Given the description of an element on the screen output the (x, y) to click on. 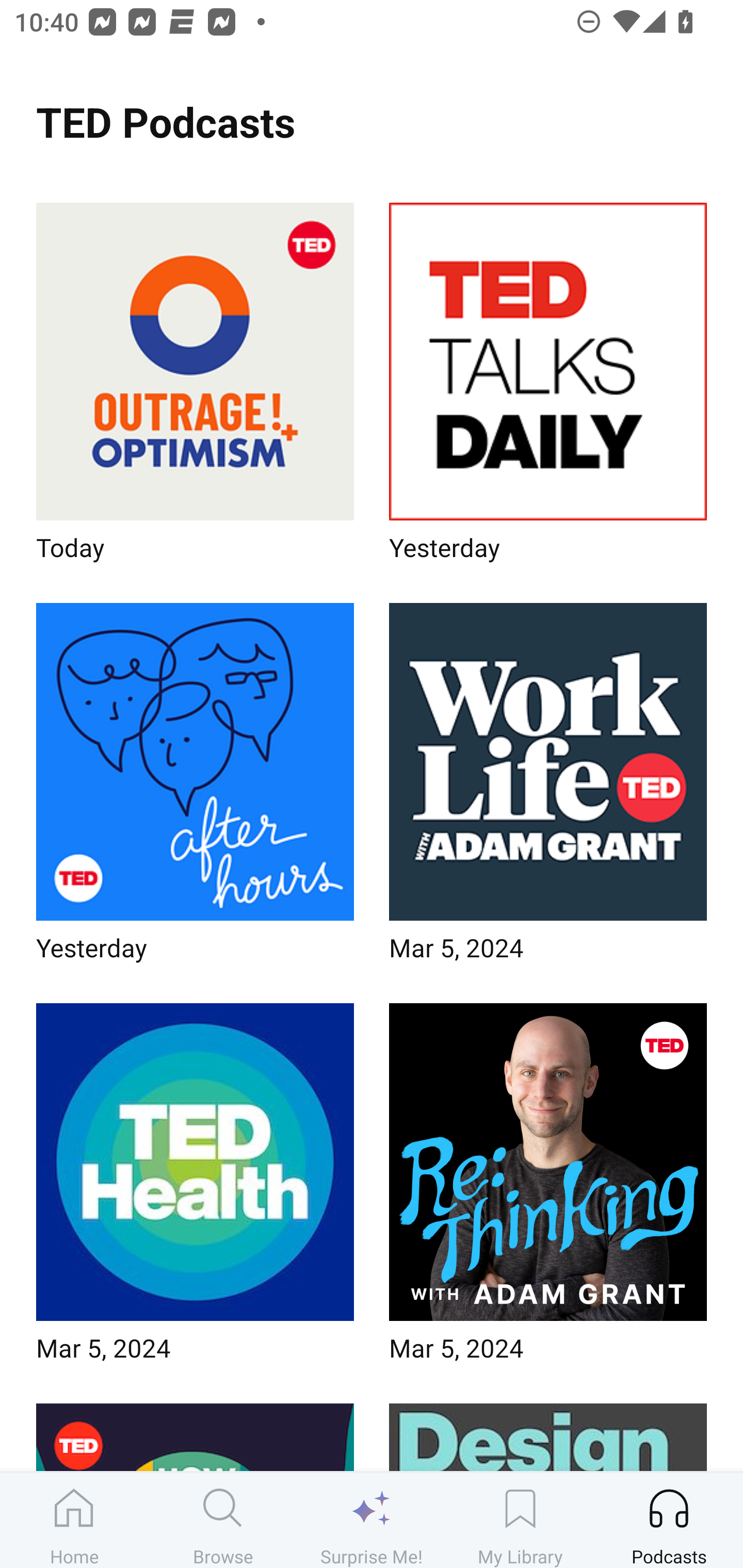
Today (194, 387)
Yesterday (547, 387)
Yesterday (194, 788)
Mar 5, 2024 (547, 788)
Mar 5, 2024 (194, 1189)
Mar 5, 2024 (547, 1189)
Home (74, 1520)
Browse (222, 1520)
Surprise Me! (371, 1520)
My Library (519, 1520)
Podcasts (668, 1520)
